Given the description of an element on the screen output the (x, y) to click on. 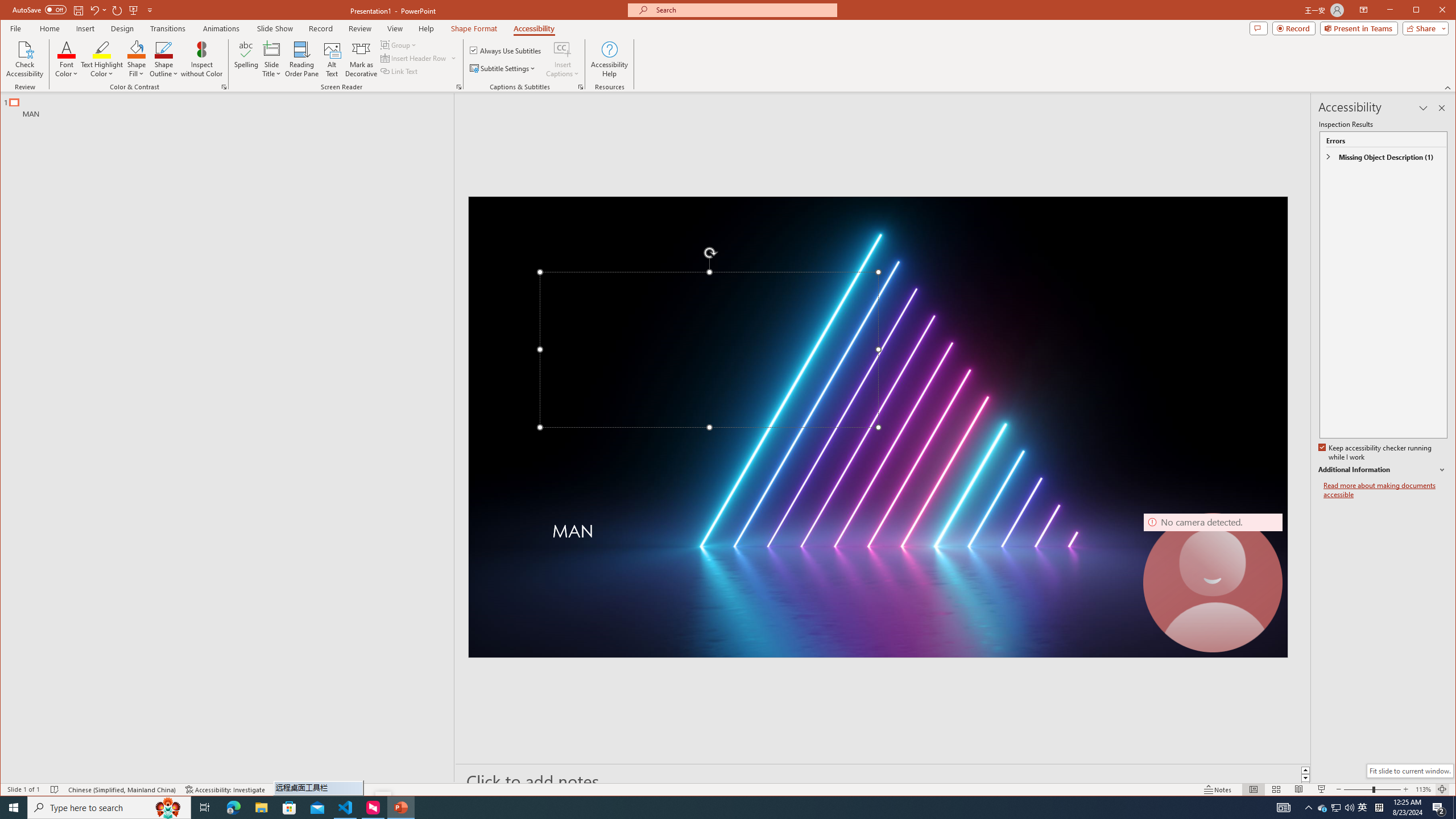
Fit slide to current window. (1410, 771)
Additional Information (1382, 469)
Inspect without Color (201, 59)
Subtitle Settings (502, 68)
Neon laser lights aligned to form a triangle (877, 426)
